Given the description of an element on the screen output the (x, y) to click on. 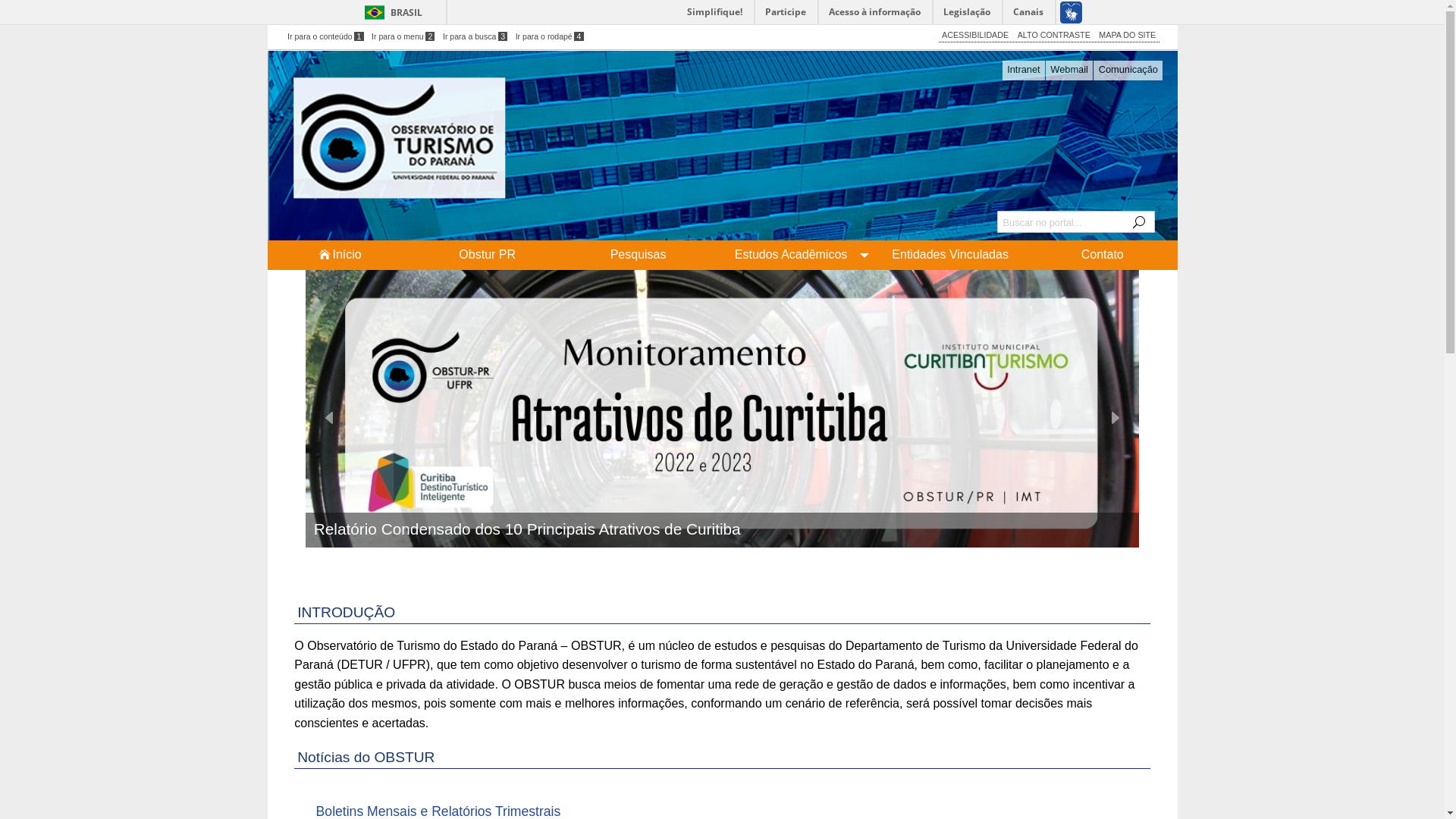
Ir para a busca3 Element type: text (475, 36)
Entidades Vinculadas Element type: text (949, 254)
ACESSIBILIDADE Element type: text (975, 34)
ALTO CONTRASTE Element type: text (1053, 34)
Pesquisas Element type: text (638, 254)
Webmail Element type: text (1068, 70)
MAPA DO SITE Element type: text (1126, 34)
Contato Element type: text (1102, 254)
Intranet Element type: text (1023, 70)
Ir para o menu2 Element type: text (403, 36)
Anterior Slide Element type: text (329, 417)
BRASIL Element type: text (389, 12)
Obstur PR Element type: text (487, 254)
